Given the description of an element on the screen output the (x, y) to click on. 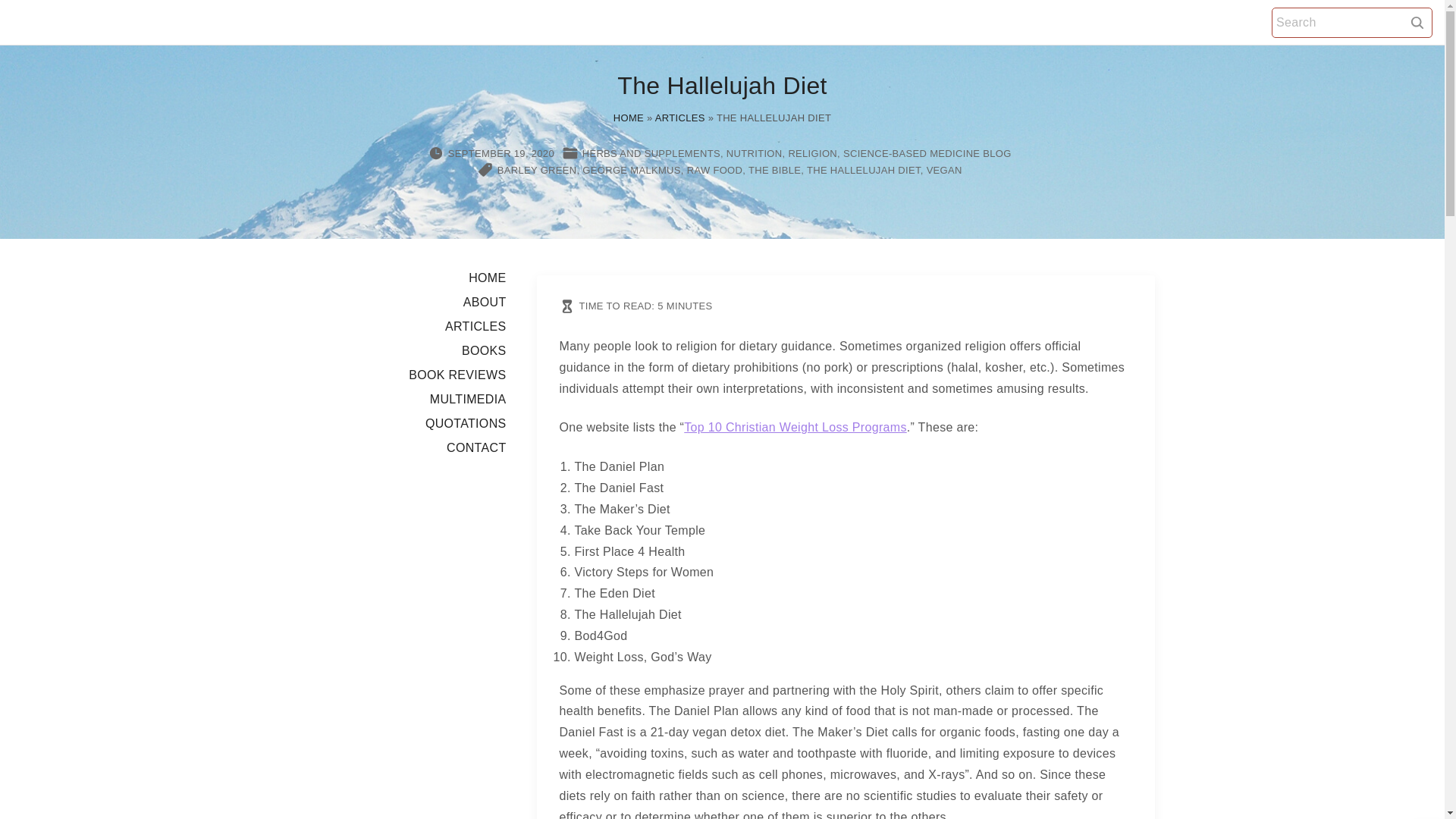
GEORGE MALKMUS (630, 169)
BOOKS (483, 350)
HOME (627, 117)
NUTRITION (754, 153)
BARLEY GREEN (536, 169)
HOME (486, 277)
SEARCH (1417, 21)
QUOTATIONS (465, 422)
VEGAN (944, 169)
THE BIBLE (774, 169)
